Given the description of an element on the screen output the (x, y) to click on. 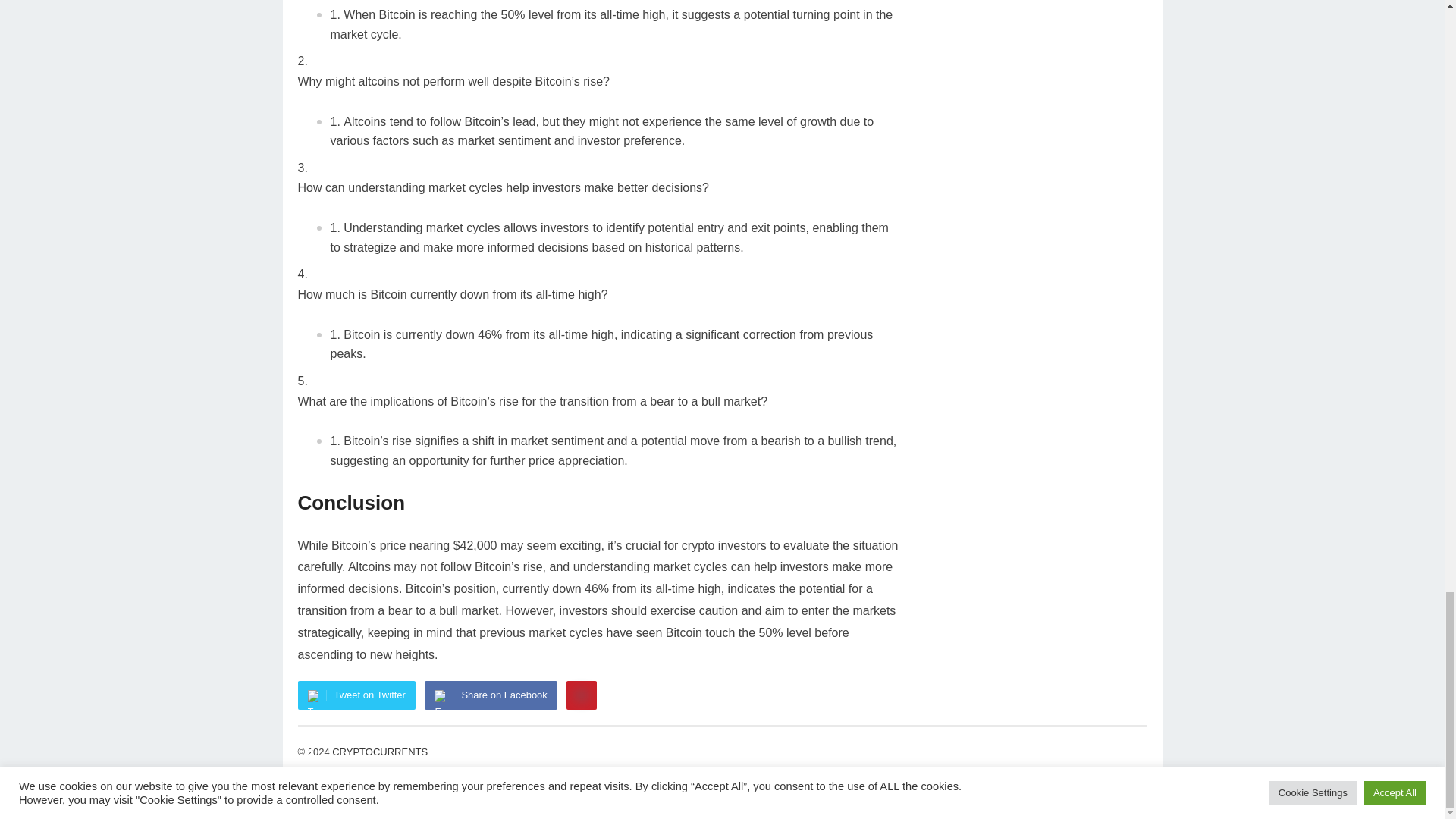
Share on Facebook (490, 695)
Pinterest (581, 695)
Tweet on Twitter (355, 695)
